Given the description of an element on the screen output the (x, y) to click on. 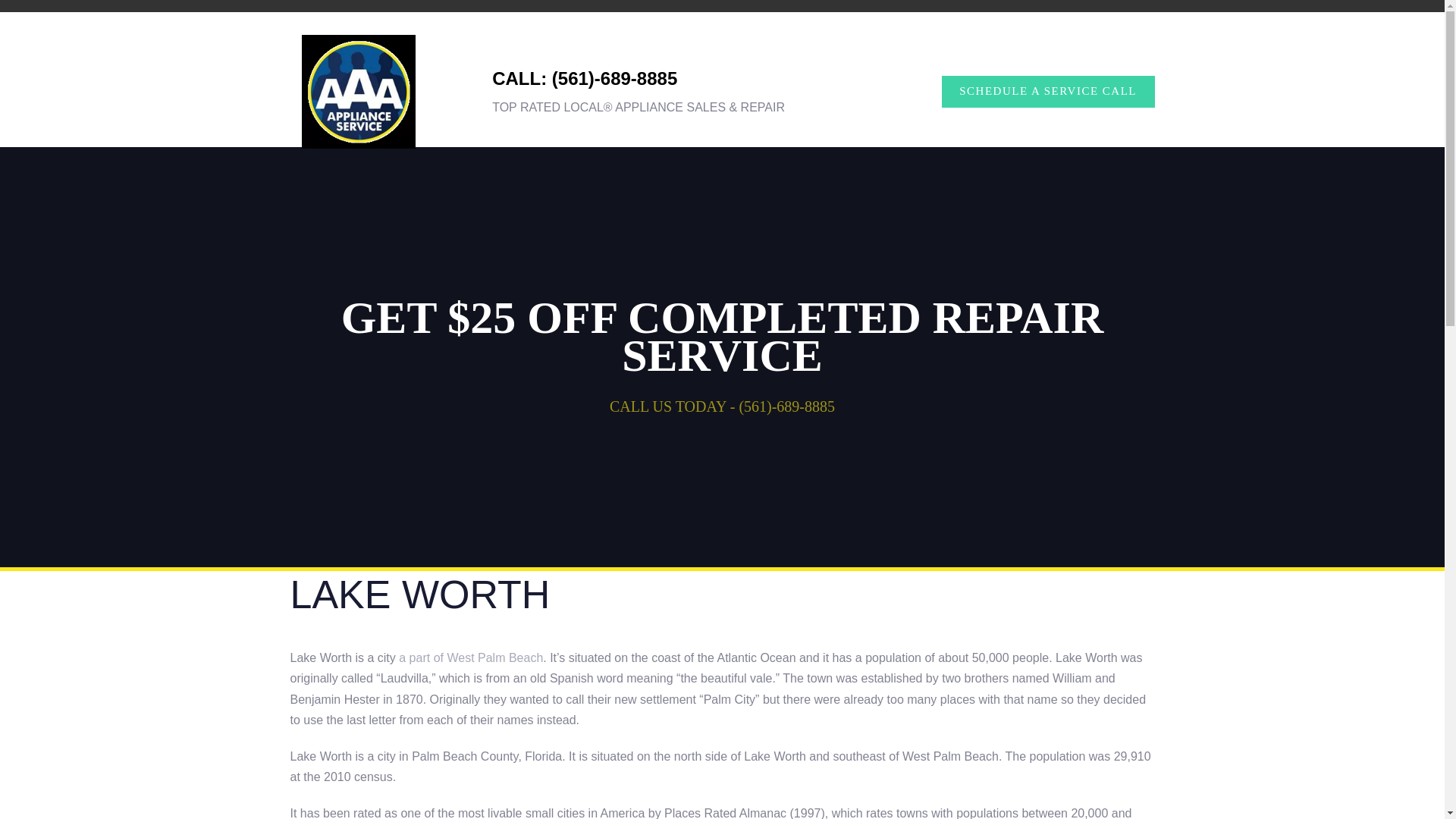
CONTACT (986, 18)
HOME (314, 18)
SERVICE AREAS (576, 18)
BRANDS (474, 18)
WHY CHOOSE US (706, 18)
WE REPAIR (386, 18)
BLOG (914, 18)
PROMOTIONS (828, 18)
